Given the description of an element on the screen output the (x, y) to click on. 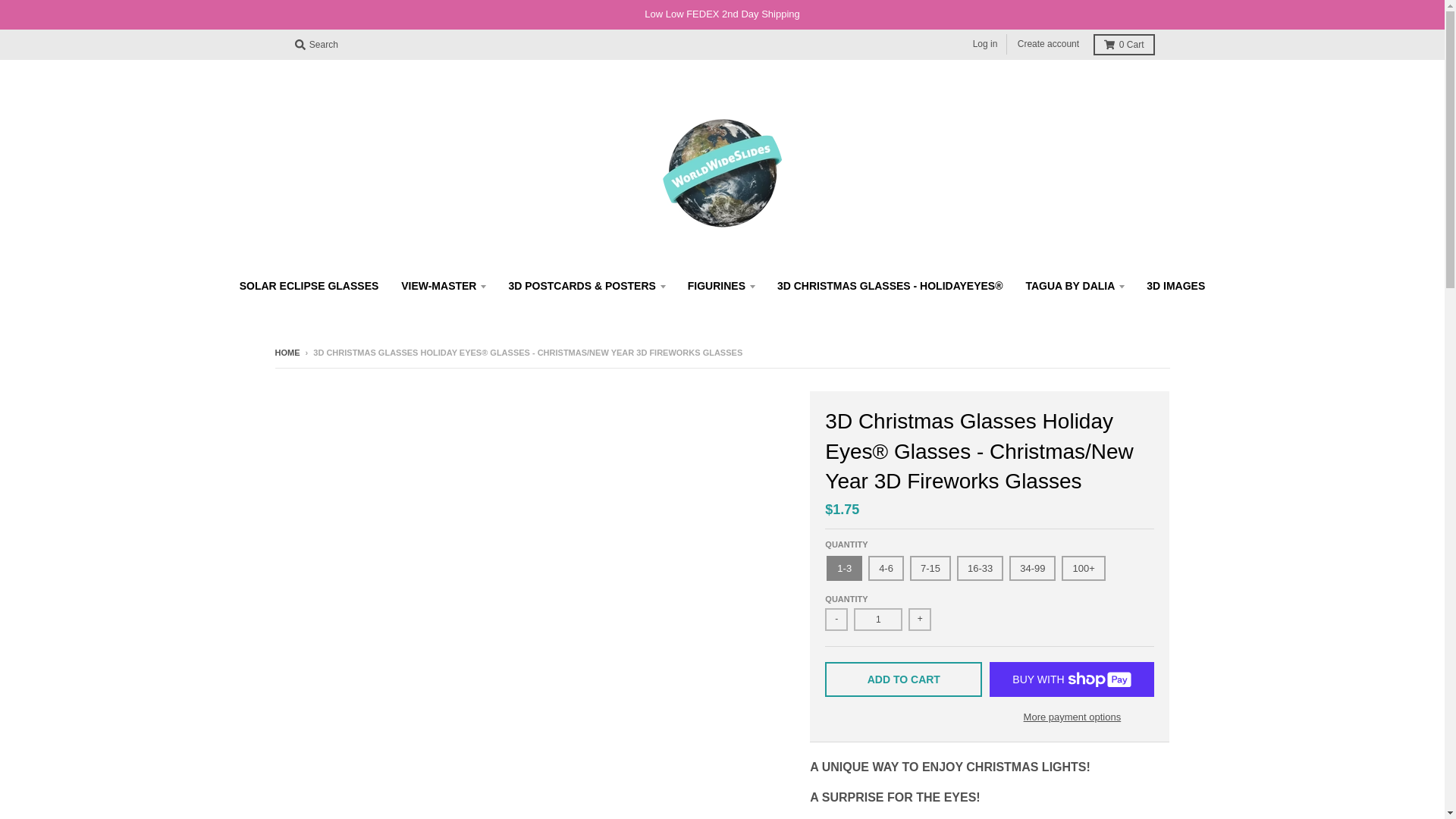
Create account (1048, 44)
Log in (985, 44)
16-33 (979, 568)
Search (315, 44)
VIEW-MASTER (443, 285)
0 Cart (1123, 44)
